Given the description of an element on the screen output the (x, y) to click on. 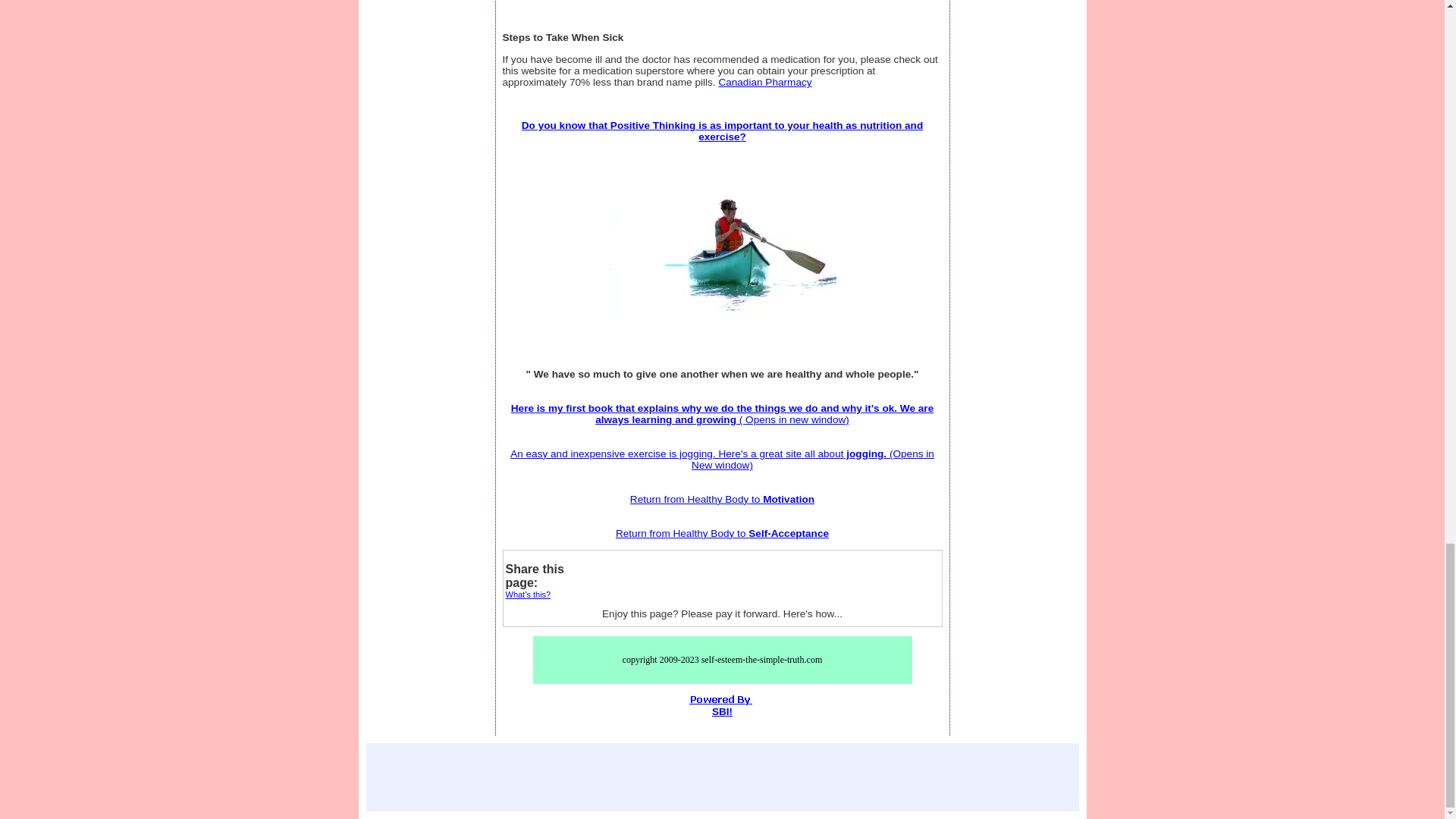
Return from Healthy Body to Self-Acceptance (721, 532)
Return from Healthy Body to Motivation (721, 499)
Canadian Pharmacy (763, 81)
